Given the description of an element on the screen output the (x, y) to click on. 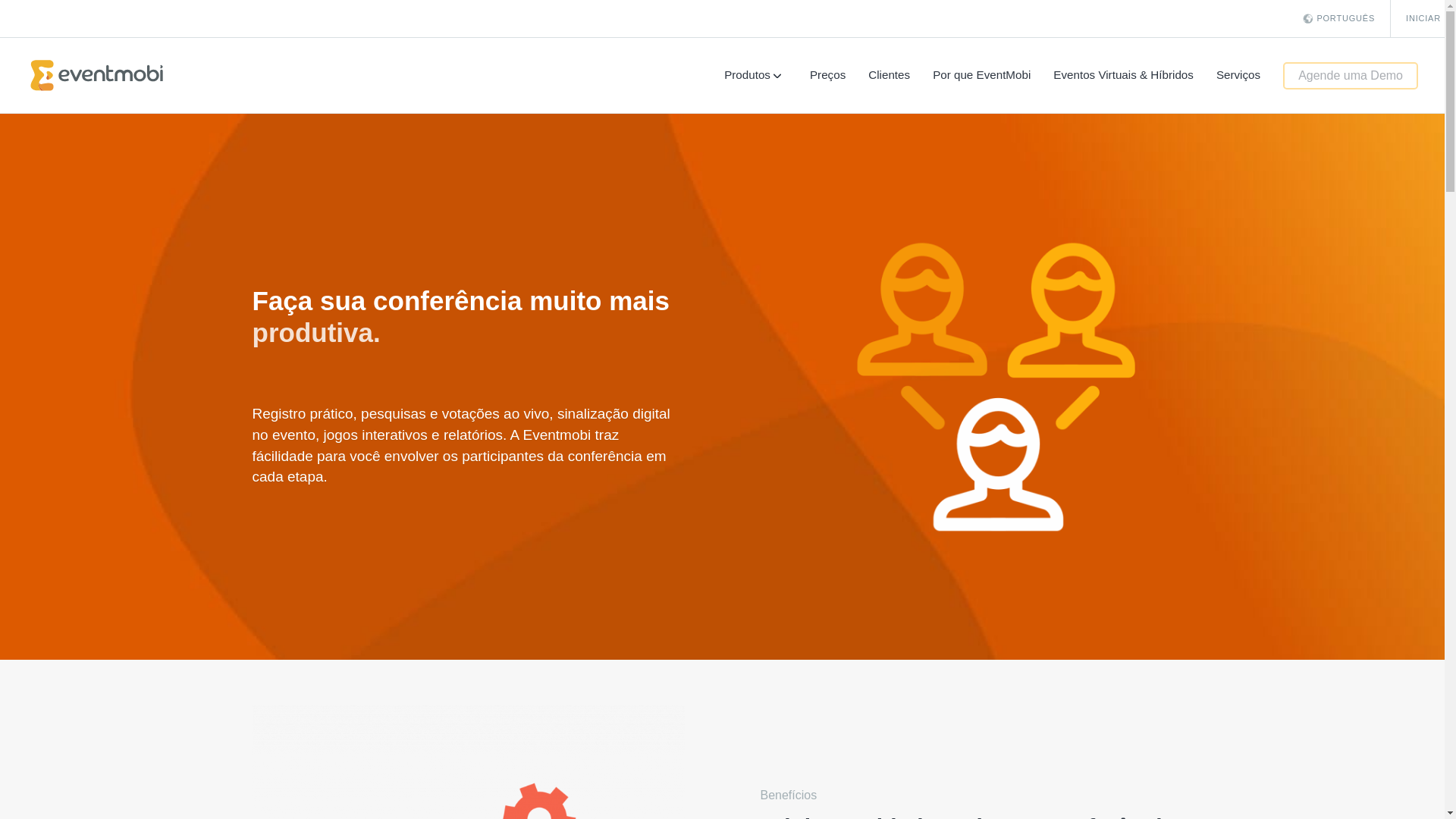
EventMobi (96, 74)
Produtos (755, 73)
Por que EventMobi (981, 73)
IR (703, 230)
Clientes (888, 73)
Agende uma Demo (1350, 75)
